Given the description of an element on the screen output the (x, y) to click on. 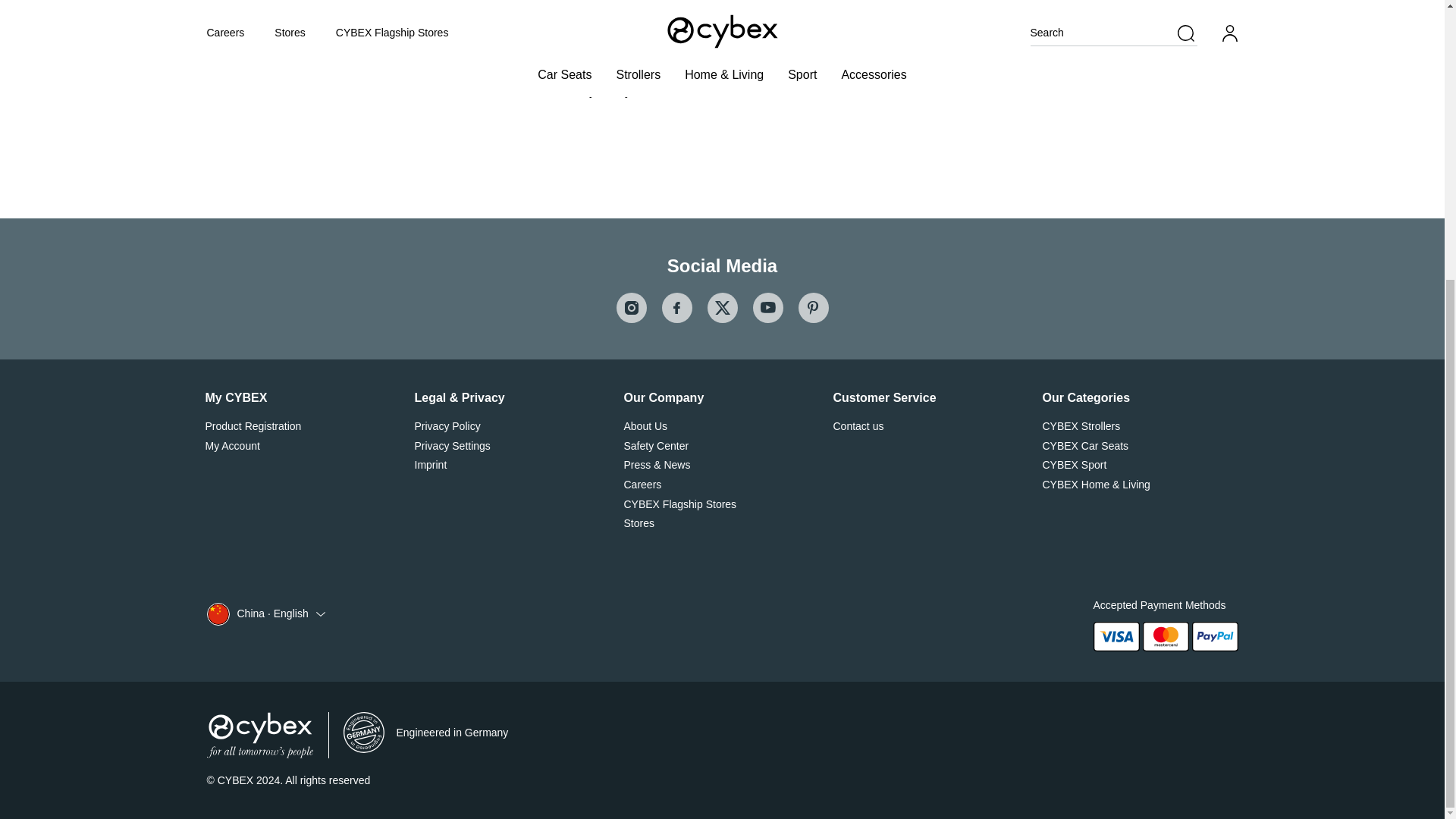
here (741, 23)
CYBEX for all tomorrow's people (259, 734)
Follow us on Youtube (767, 307)
Visit us on Pinterest (812, 307)
Visit us on Facebook (676, 307)
Follow us on Instagram (630, 307)
Visit us on X (721, 307)
